Given the description of an element on the screen output the (x, y) to click on. 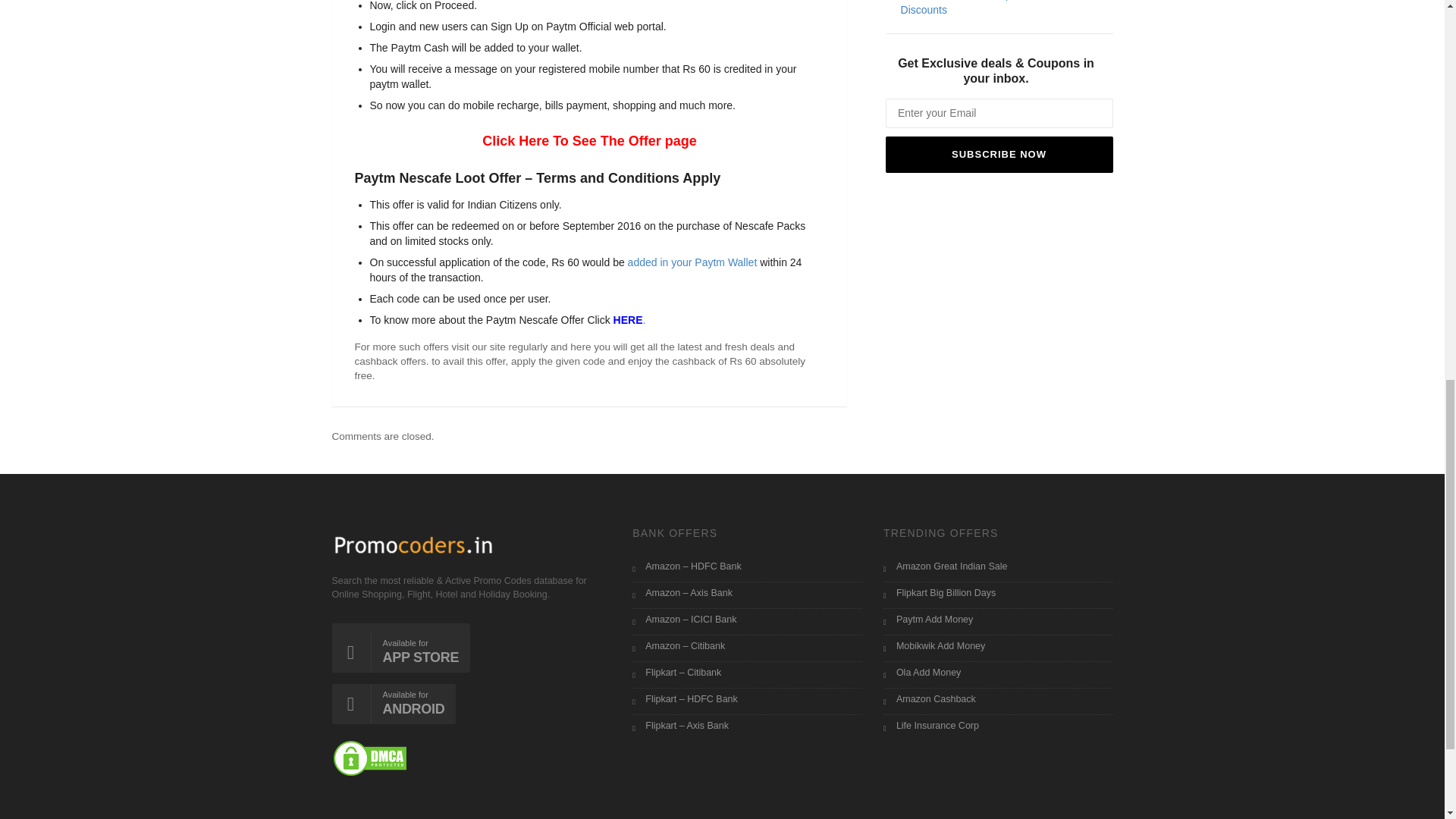
added in your Paytm Wallet (690, 262)
DMCA.com Protection Status (369, 757)
Subscribe now (999, 154)
Click Here To See The Offer page (589, 140)
HERE. (629, 319)
